Given the description of an element on the screen output the (x, y) to click on. 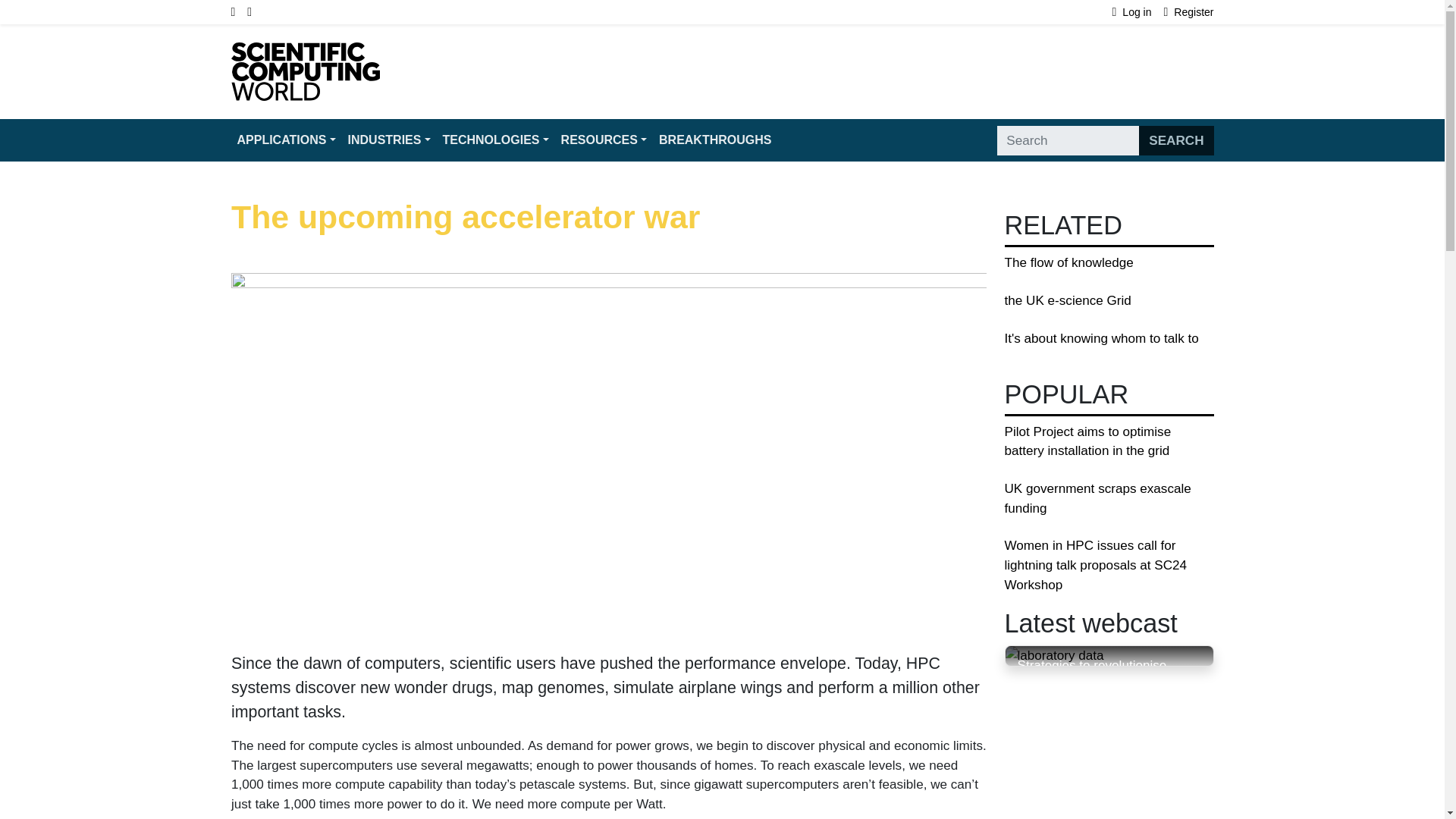
SEARCH (1175, 141)
the UK e-science Grid (1067, 300)
Enter the terms you wish to search for. (1067, 141)
Register (1188, 12)
BREAKTHROUGHS (714, 140)
UK government scraps exascale funding (1097, 498)
Log in (1137, 12)
It's about knowing whom to talk to (1101, 338)
